Given the description of an element on the screen output the (x, y) to click on. 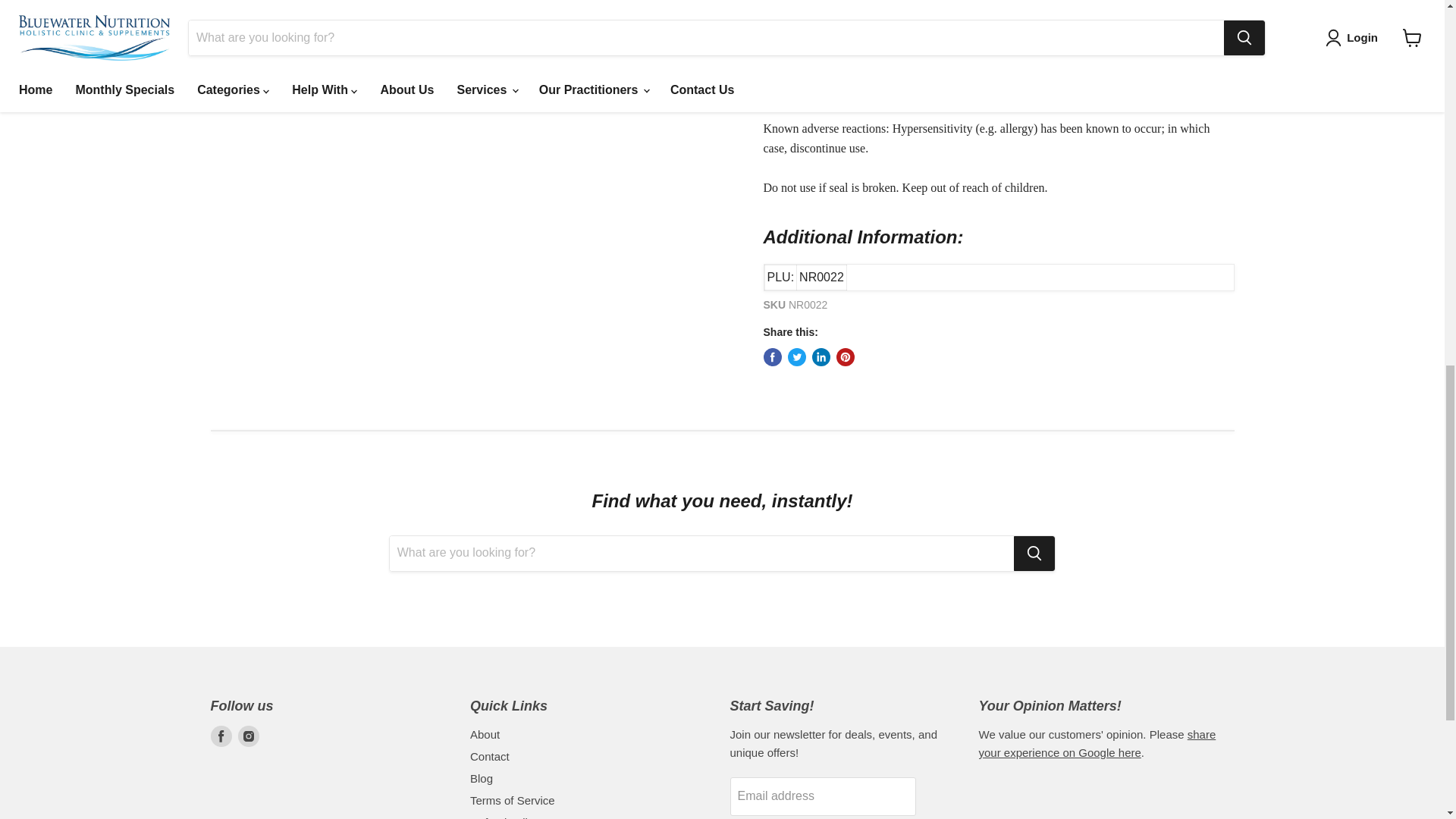
Facebook (221, 735)
Instagram (248, 735)
